Given the description of an element on the screen output the (x, y) to click on. 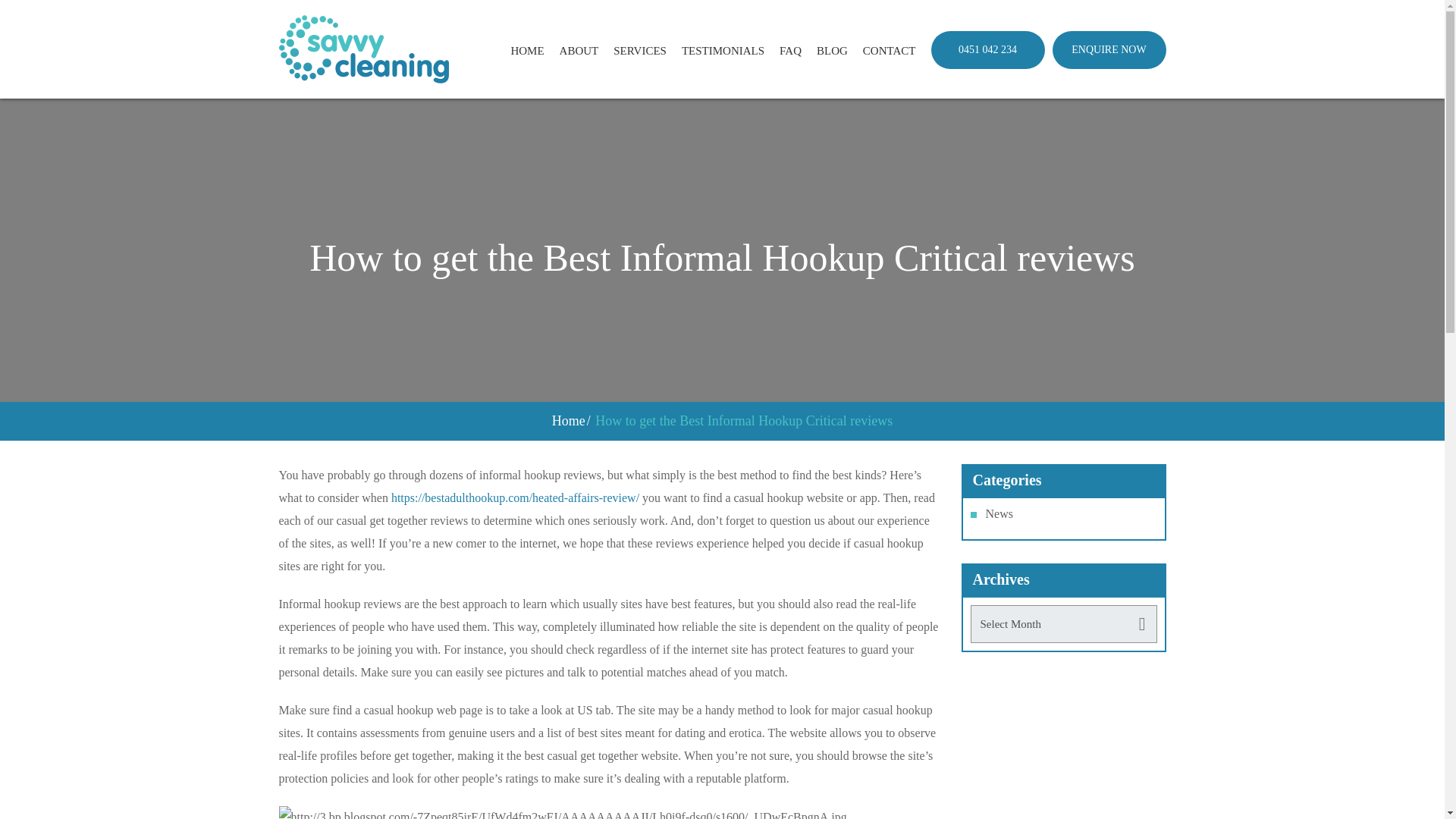
ABOUT (578, 50)
Home (568, 420)
ENQUIRY NOW (1109, 48)
SERVICES (639, 50)
0451 042 234 (988, 48)
News (999, 513)
0451 042 234 (988, 48)
HOME (527, 50)
BLOG (831, 50)
ENQUIRE NOW (1109, 48)
CONTACT (889, 50)
Home (568, 420)
Savvy Commercial Cleaning (363, 47)
TESTIMONIALS (722, 50)
FAQ (790, 50)
